Given the description of an element on the screen output the (x, y) to click on. 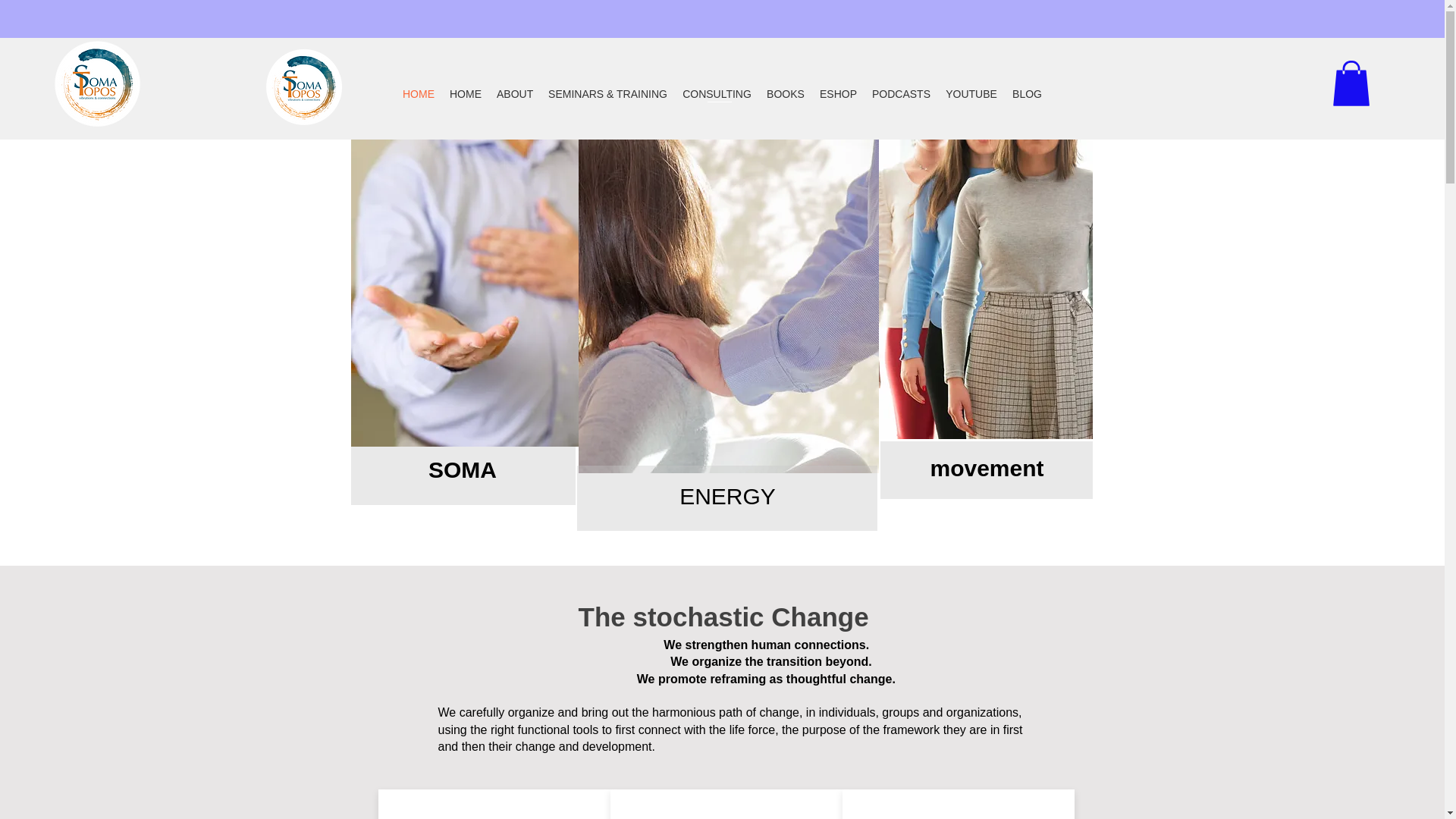
HOME (418, 94)
BLOG (1026, 94)
ABOUT (514, 94)
CONSULTING (716, 94)
movement (986, 467)
PODCASTS (900, 94)
ESHOP (838, 94)
SOMA (462, 469)
ENERGY (727, 496)
YOUTUBE (970, 94)
BOOKS (785, 94)
HOME (465, 94)
